Given the description of an element on the screen output the (x, y) to click on. 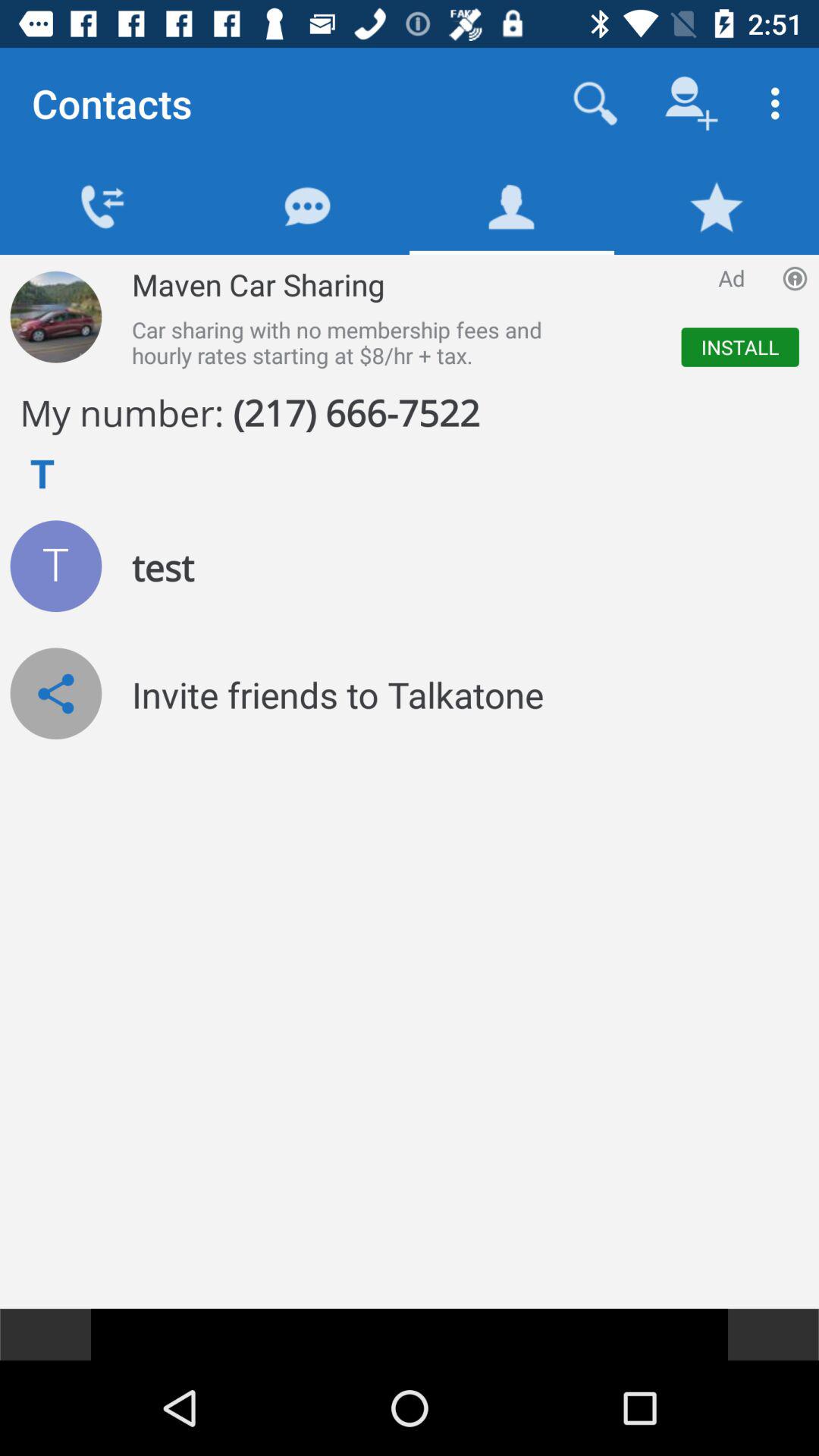
go to advertisement options (795, 278)
